Given the description of an element on the screen output the (x, y) to click on. 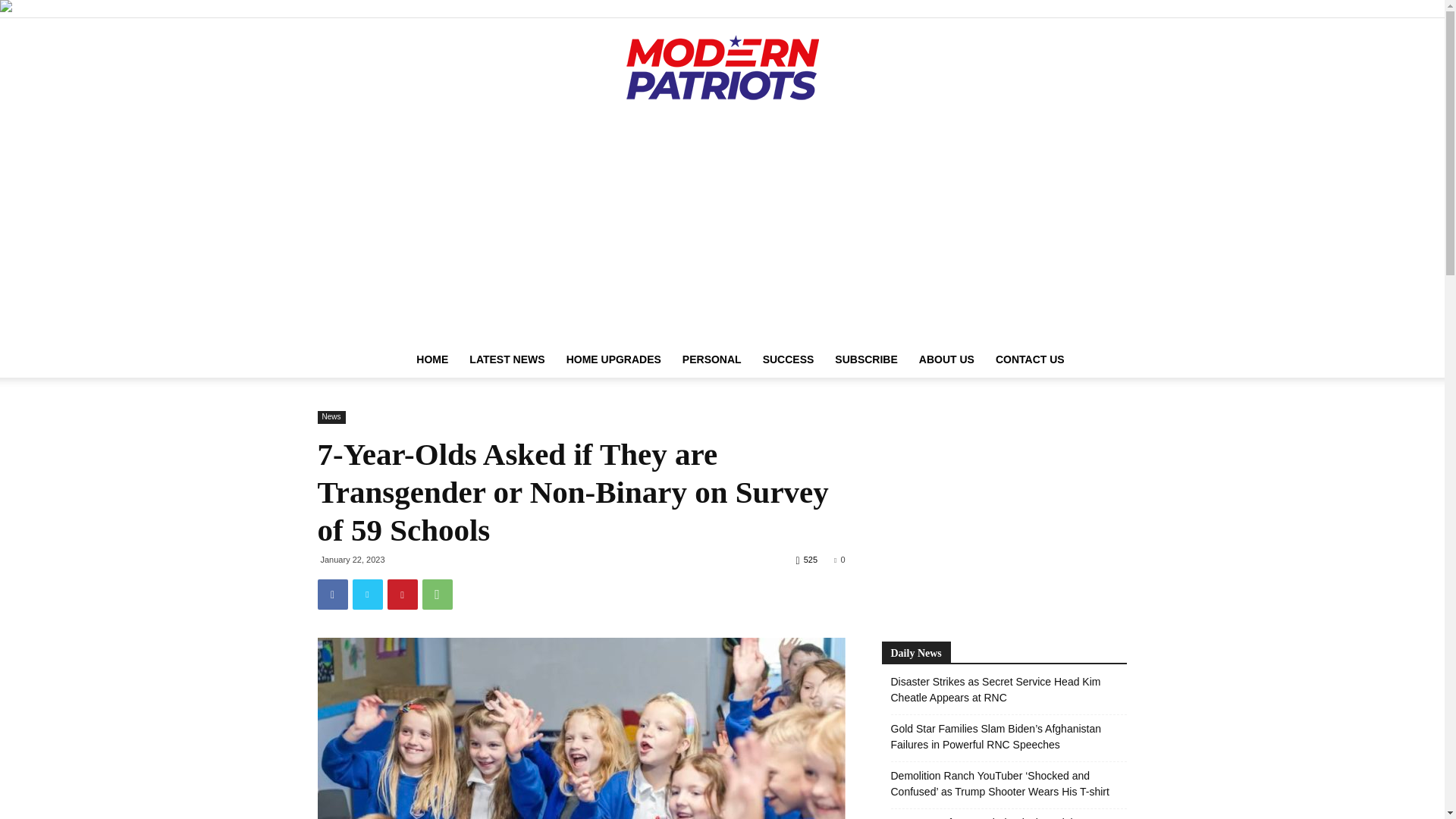
SUCCESS (788, 359)
News (331, 417)
SUBSCRIBE (865, 359)
PERSONAL (711, 359)
HOME (432, 359)
LATEST NEWS (506, 359)
HOME UPGRADES (613, 359)
0 (839, 559)
Advertisement (1003, 511)
CONTACT US (1030, 359)
ABOUT US (946, 359)
